Given the description of an element on the screen output the (x, y) to click on. 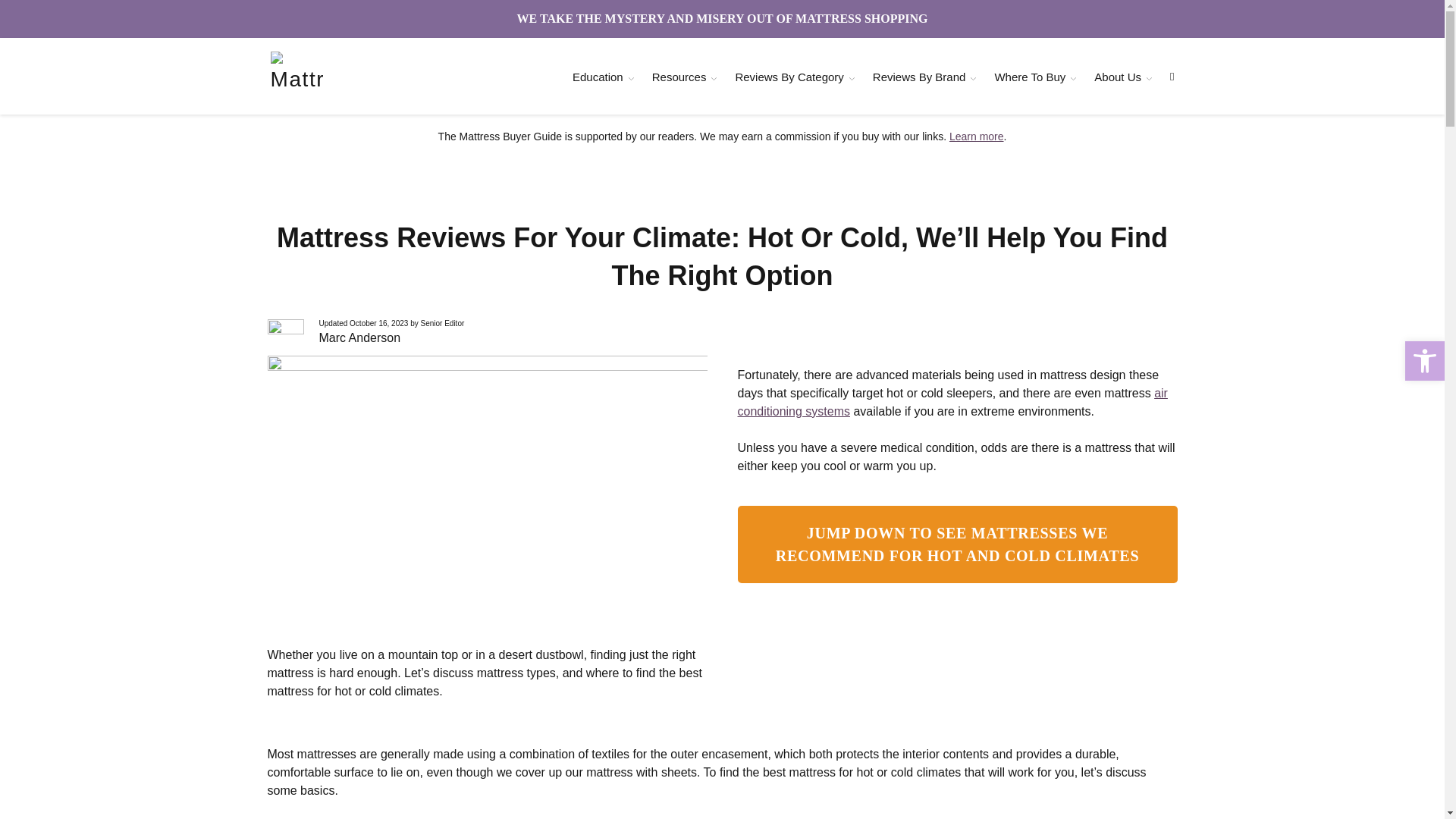
Reviews By Category (788, 76)
Education (597, 76)
Accessibility Tools (1424, 360)
Resources (678, 76)
